Given the description of an element on the screen output the (x, y) to click on. 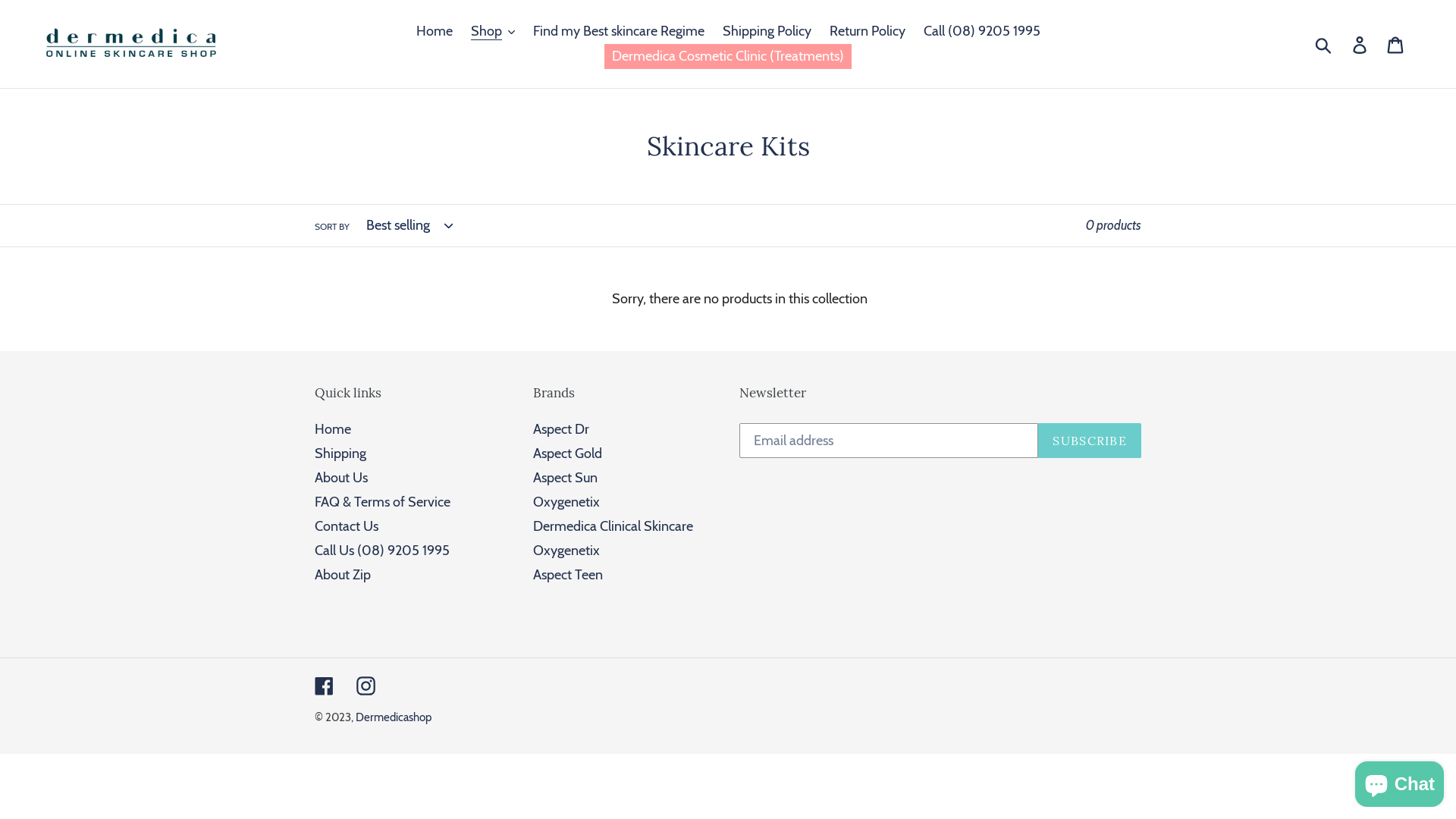
Call (08) 9205 1995 Element type: text (982, 30)
Shopify online store chat Element type: hover (1399, 780)
FAQ & Terms of Service Element type: text (382, 501)
Submit Element type: text (1324, 43)
Dermedica Cosmetic Clinic (Treatments) Element type: text (727, 56)
Dermedica Clinical Skincare Element type: text (612, 525)
Aspect Dr Element type: text (560, 428)
Oxygenetix Element type: text (565, 550)
Shipping Policy Element type: text (766, 30)
Call Us (08) 9205 1995 Element type: text (381, 550)
Home Element type: text (433, 30)
Dermedicashop Element type: text (393, 717)
Find my Best skincare Regime Element type: text (617, 30)
Return Policy Element type: text (867, 30)
Cart Element type: text (1396, 43)
Aspect Sun Element type: text (564, 477)
Instagram Element type: text (365, 684)
About Zip Element type: text (342, 574)
SUBSCRIBE Element type: text (1089, 440)
Home Element type: text (332, 428)
About Us Element type: text (340, 477)
Facebook Element type: text (323, 684)
Aspect Gold Element type: text (566, 453)
Aspect Teen Element type: text (567, 574)
Shipping Element type: text (340, 453)
Oxygenetix Element type: text (565, 501)
Log in Element type: text (1360, 43)
Contact Us Element type: text (346, 525)
